Given the description of an element on the screen output the (x, y) to click on. 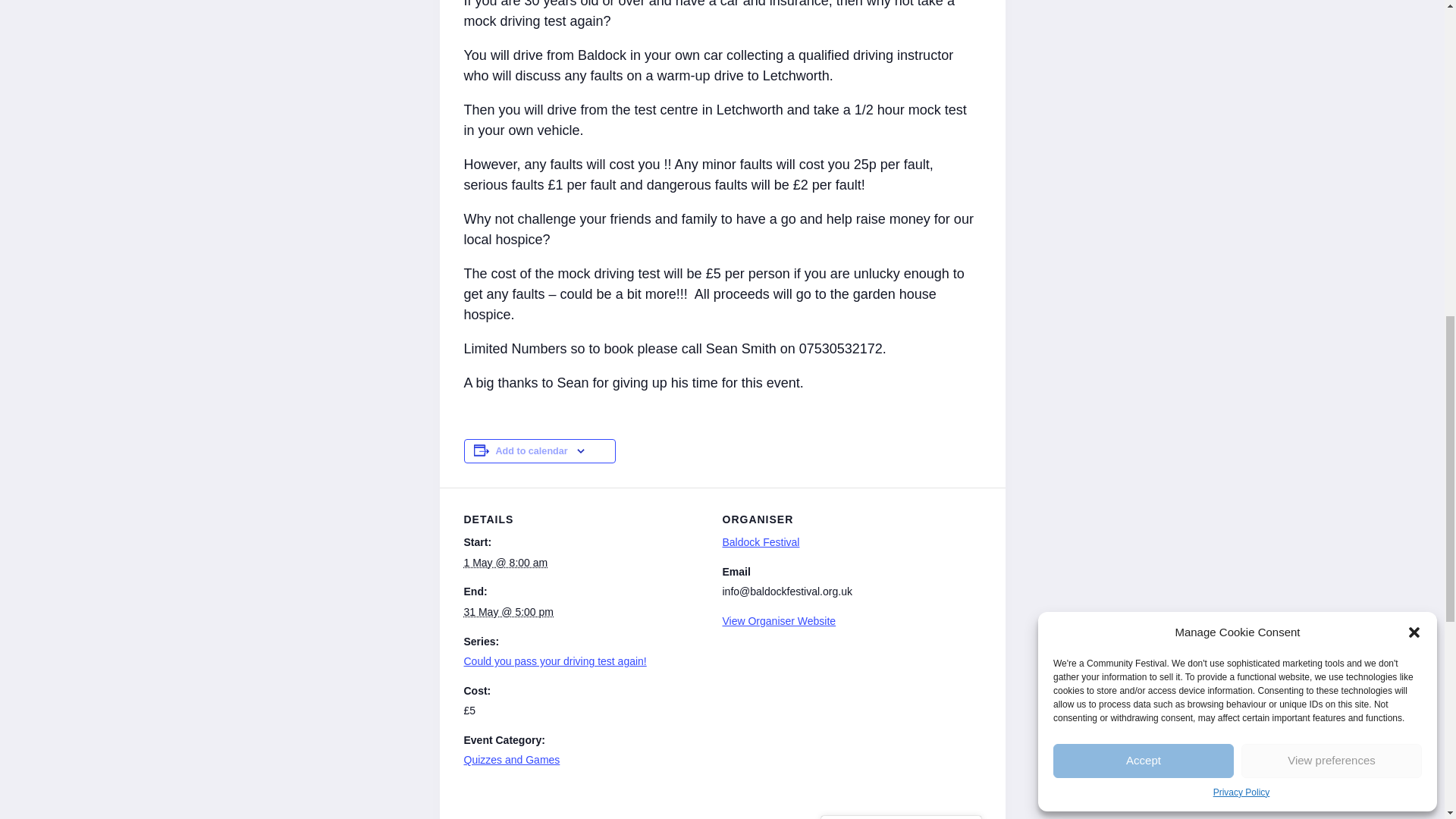
Could you pass your driving test again! (555, 661)
Baldock Festival (760, 541)
2024-05-01 (506, 562)
2024-05-31 (509, 612)
